Given the description of an element on the screen output the (x, y) to click on. 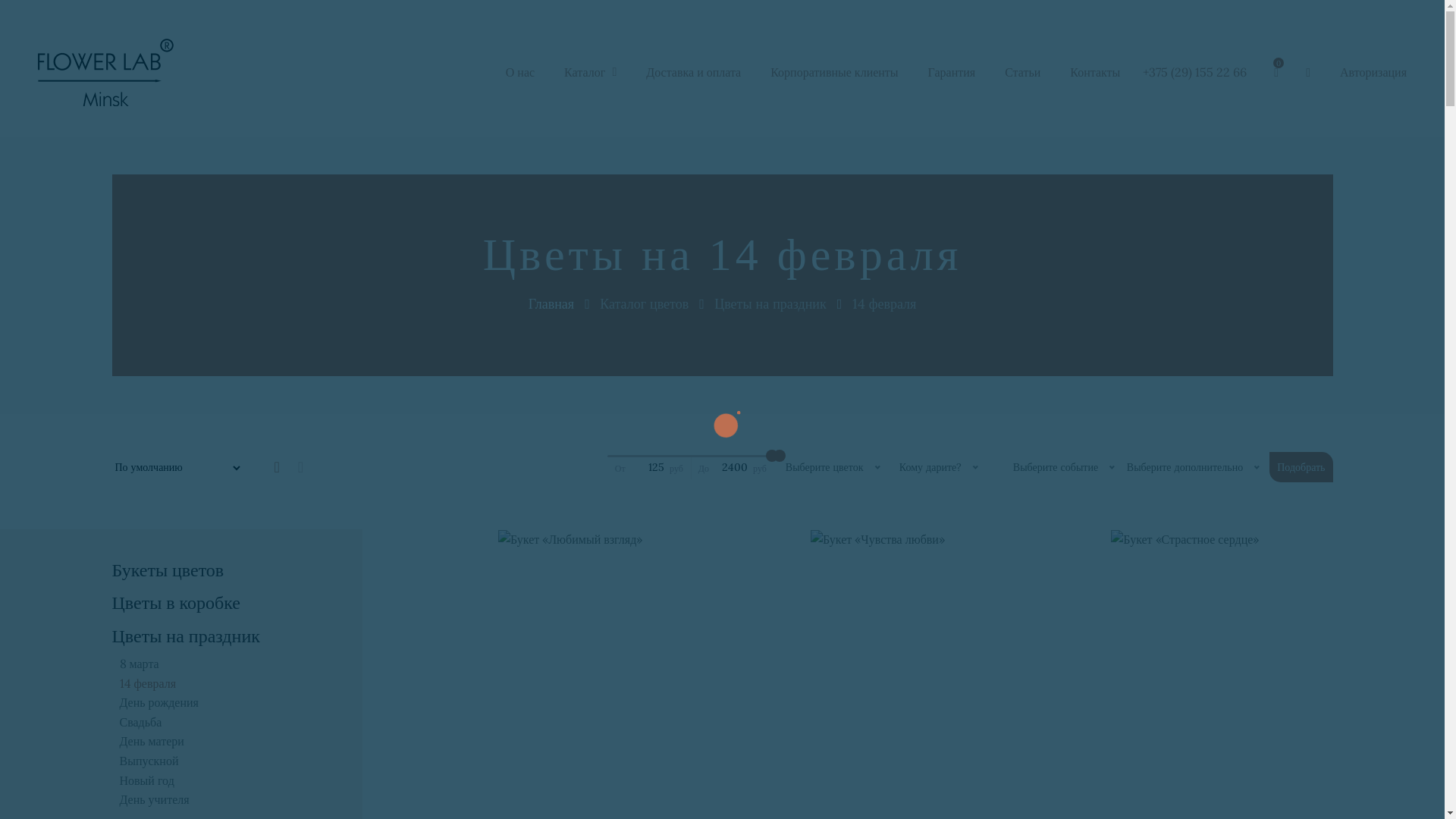
+375 (29) 155 22 66 Element type: text (1194, 71)
